Given the description of an element on the screen output the (x, y) to click on. 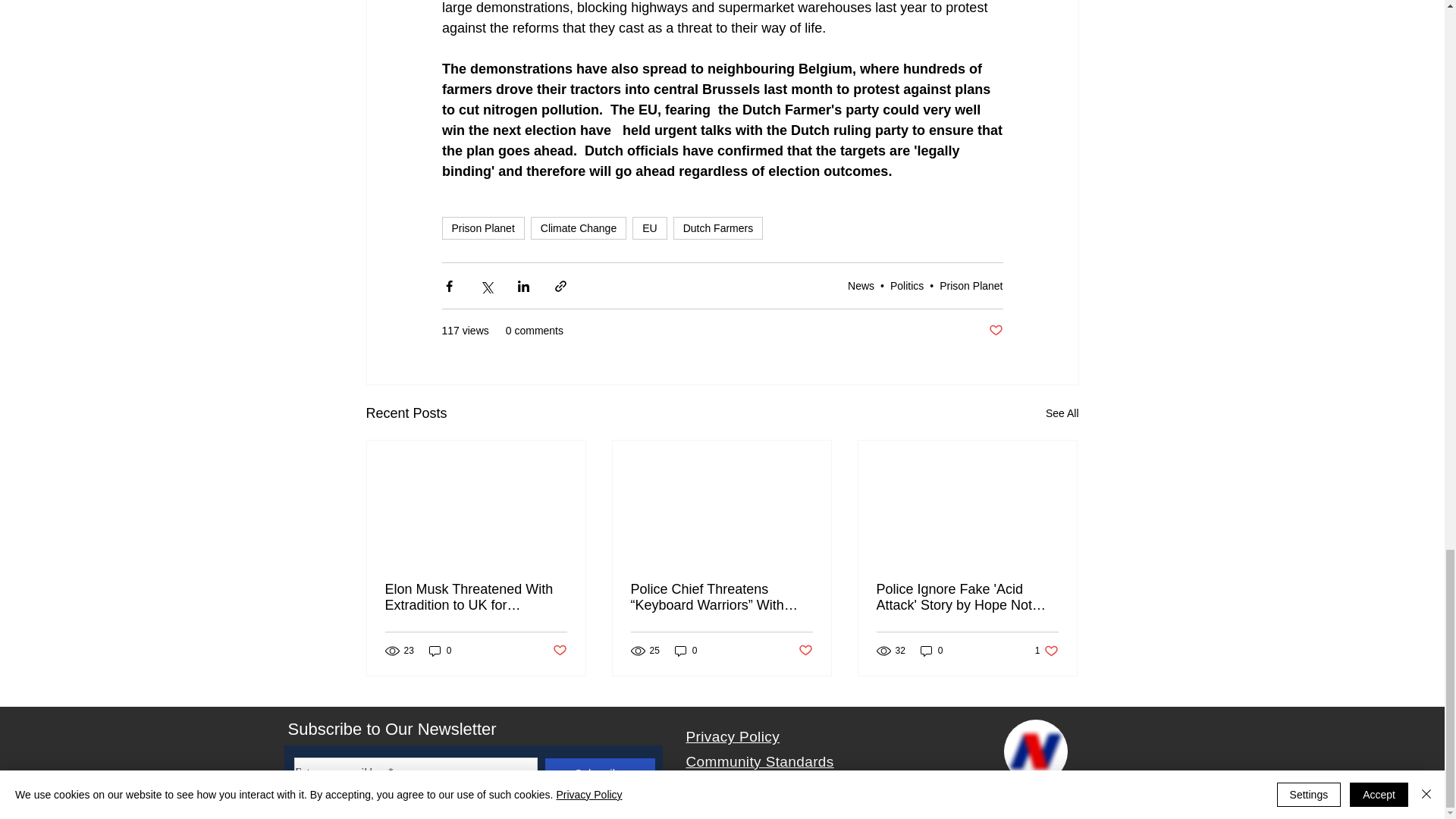
Politics (906, 285)
0 (440, 650)
See All (1046, 650)
Dutch Farmers (1061, 413)
EU (717, 228)
Climate Change (648, 228)
Post not marked as liked (578, 228)
